Given the description of an element on the screen output the (x, y) to click on. 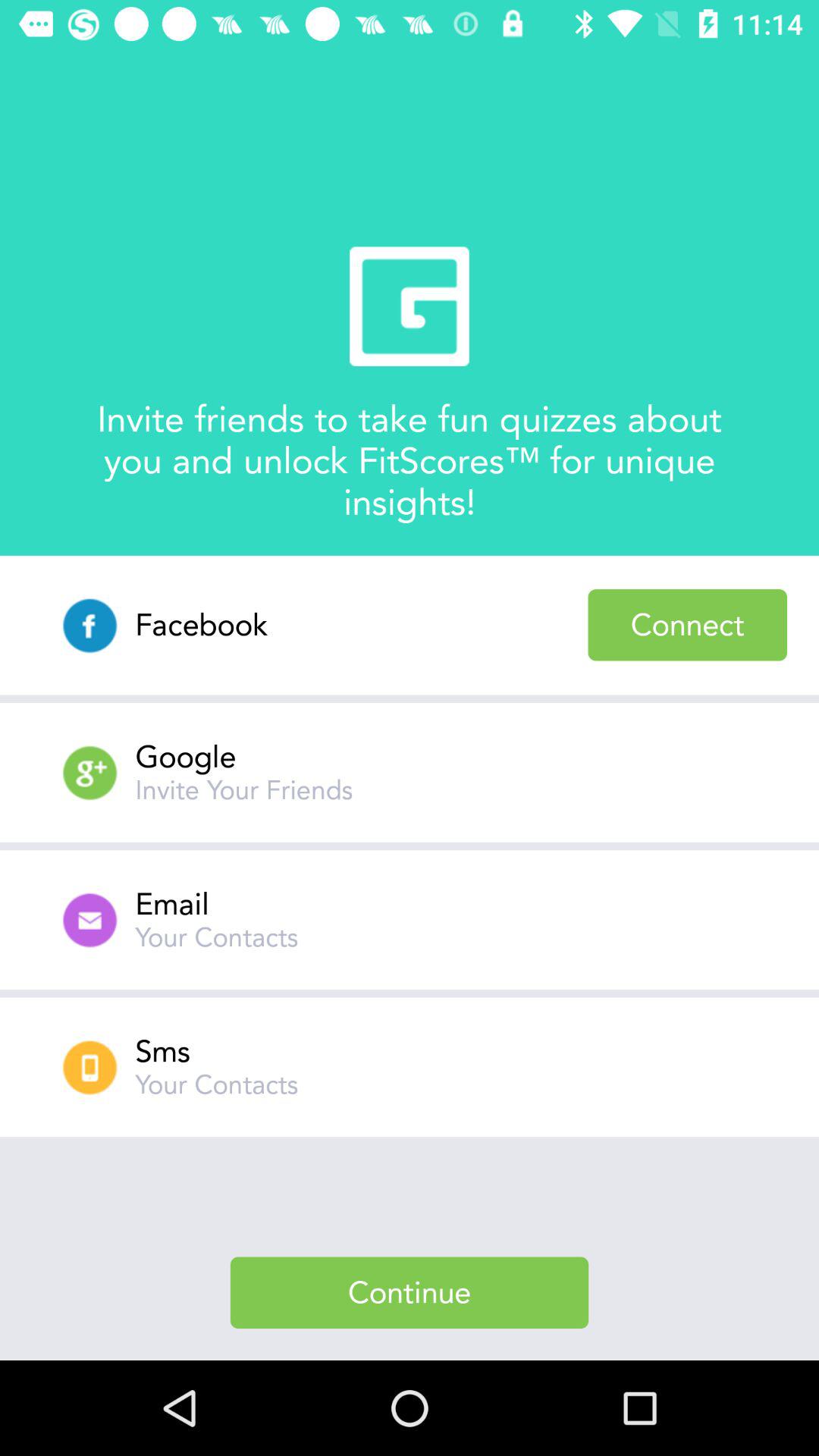
launch continue item (409, 1292)
